Given the description of an element on the screen output the (x, y) to click on. 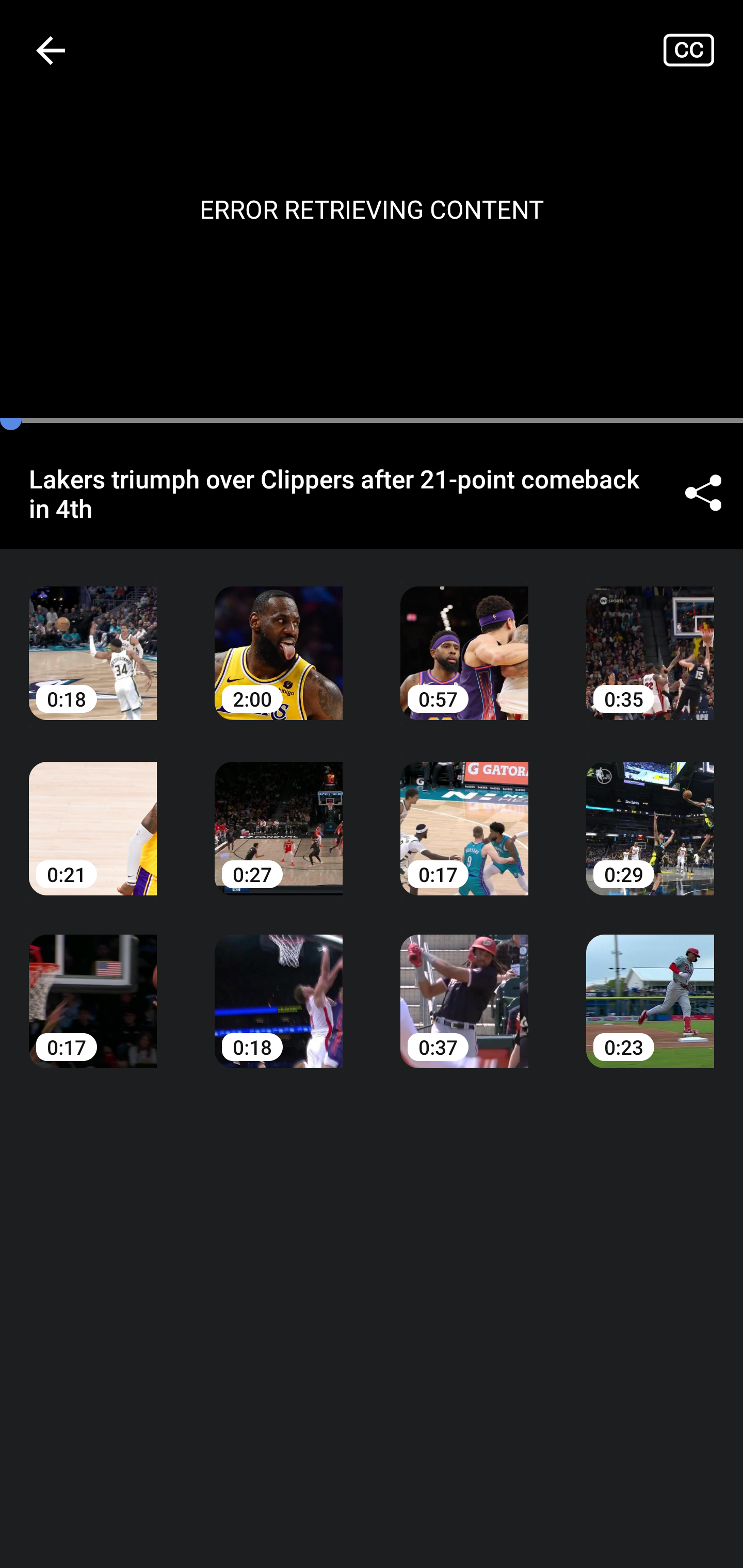
Navigate up (50, 50)
Closed captions  (703, 49)
Share © (703, 493)
0:18 (92, 637)
2:00 (278, 637)
0:57 (464, 637)
0:35 (650, 637)
0:21 (92, 813)
0:27 (278, 813)
0:17 (464, 813)
0:29 (650, 813)
0:17 (92, 987)
0:18 (278, 987)
0:37 (464, 987)
0:23 (650, 987)
